Given the description of an element on the screen output the (x, y) to click on. 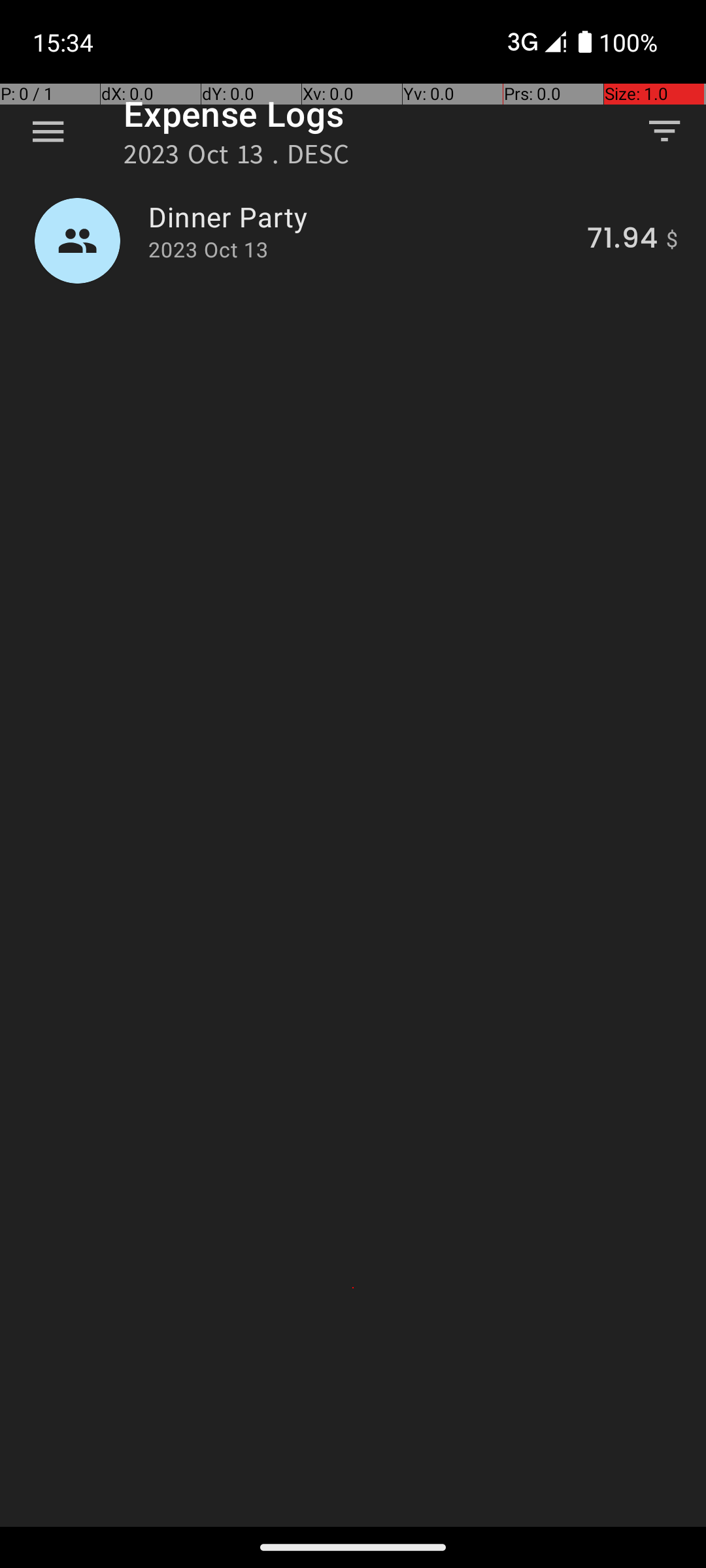
Expense Logs Element type: android.widget.TextView (233, 113)
2023 Oct 13 . DESC Element type: android.widget.TextView (236, 157)
Filter Element type: android.widget.TextView (664, 131)
Dinner Party Element type: android.widget.TextView (359, 216)
71.94 Element type: android.widget.TextView (622, 240)
$ Element type: android.widget.TextView (671, 240)
